Given the description of an element on the screen output the (x, y) to click on. 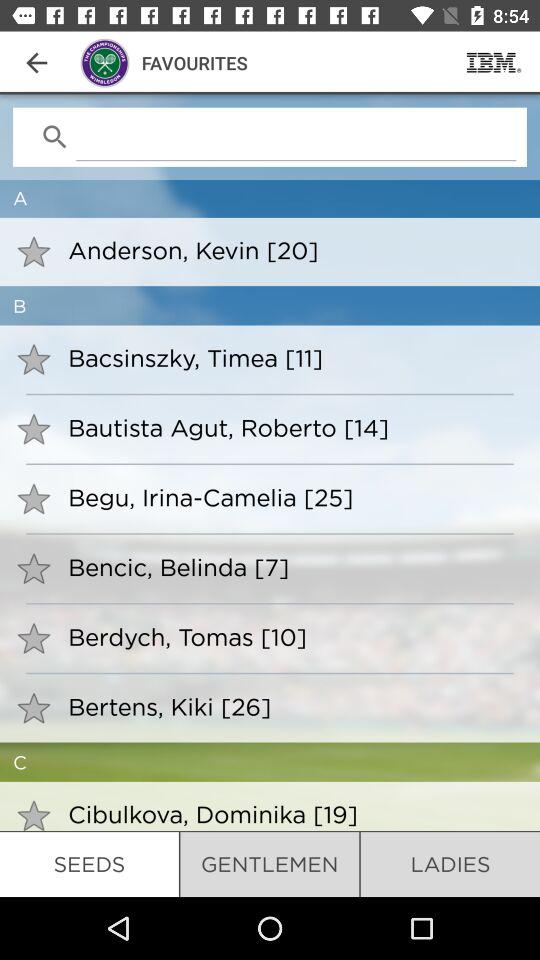
press icon to the left of the ladies item (269, 863)
